Given the description of an element on the screen output the (x, y) to click on. 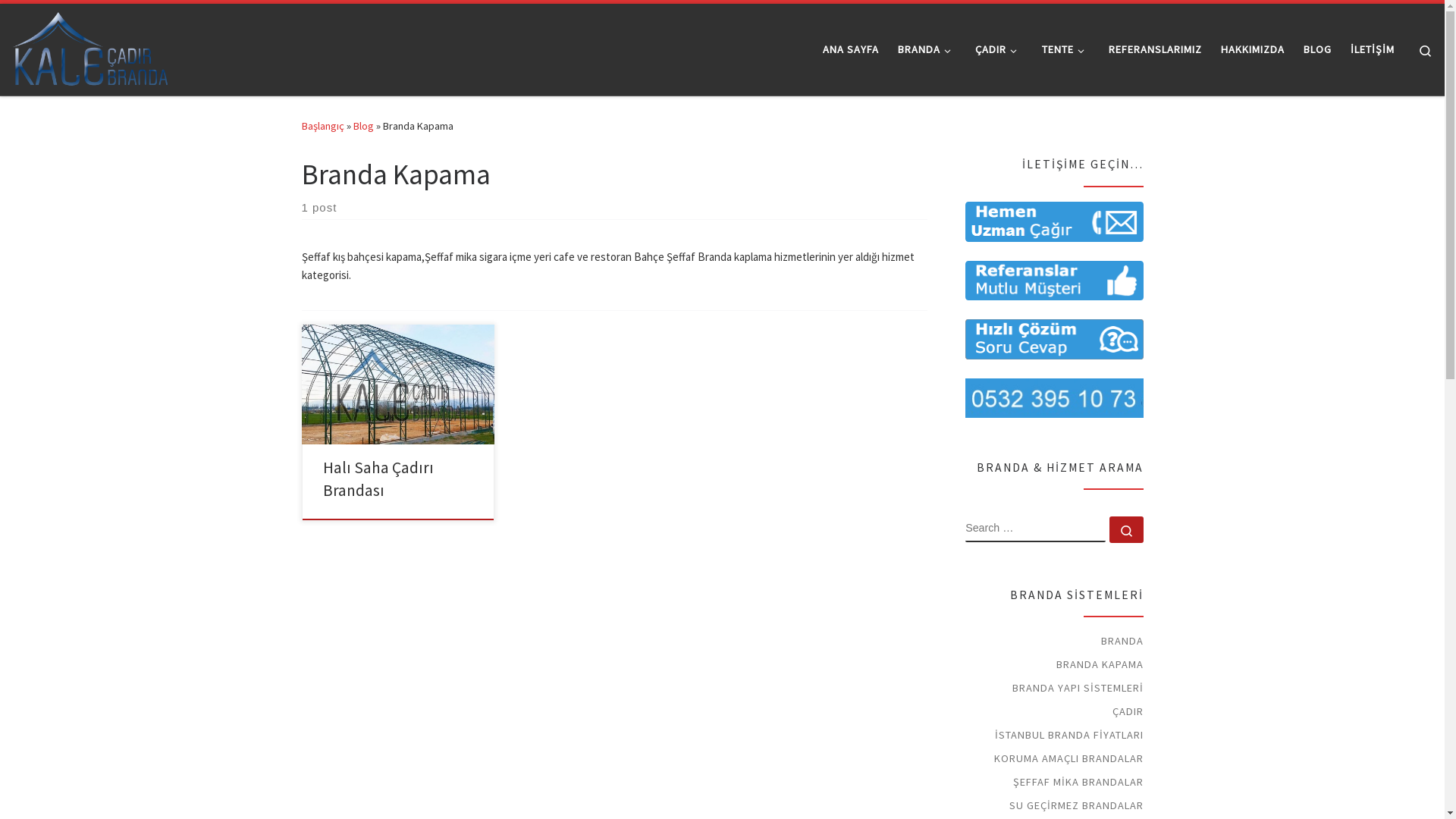
Skip to content Element type: text (57, 21)
HAKKIMIZDA Element type: text (1252, 49)
REFERANSLARIMIZ Element type: text (1155, 49)
BRANDA Element type: text (1122, 640)
ANA SAYFA Element type: text (851, 49)
Blog Element type: text (363, 125)
BLOG Element type: text (1317, 49)
BRANDA Element type: text (927, 49)
TENTE Element type: text (1065, 49)
BRANDA KAPAMA Element type: text (1098, 663)
BRANDA YAPI SISTEMLERI Element type: text (1076, 687)
Search Element type: text (1424, 49)
